Given the description of an element on the screen output the (x, y) to click on. 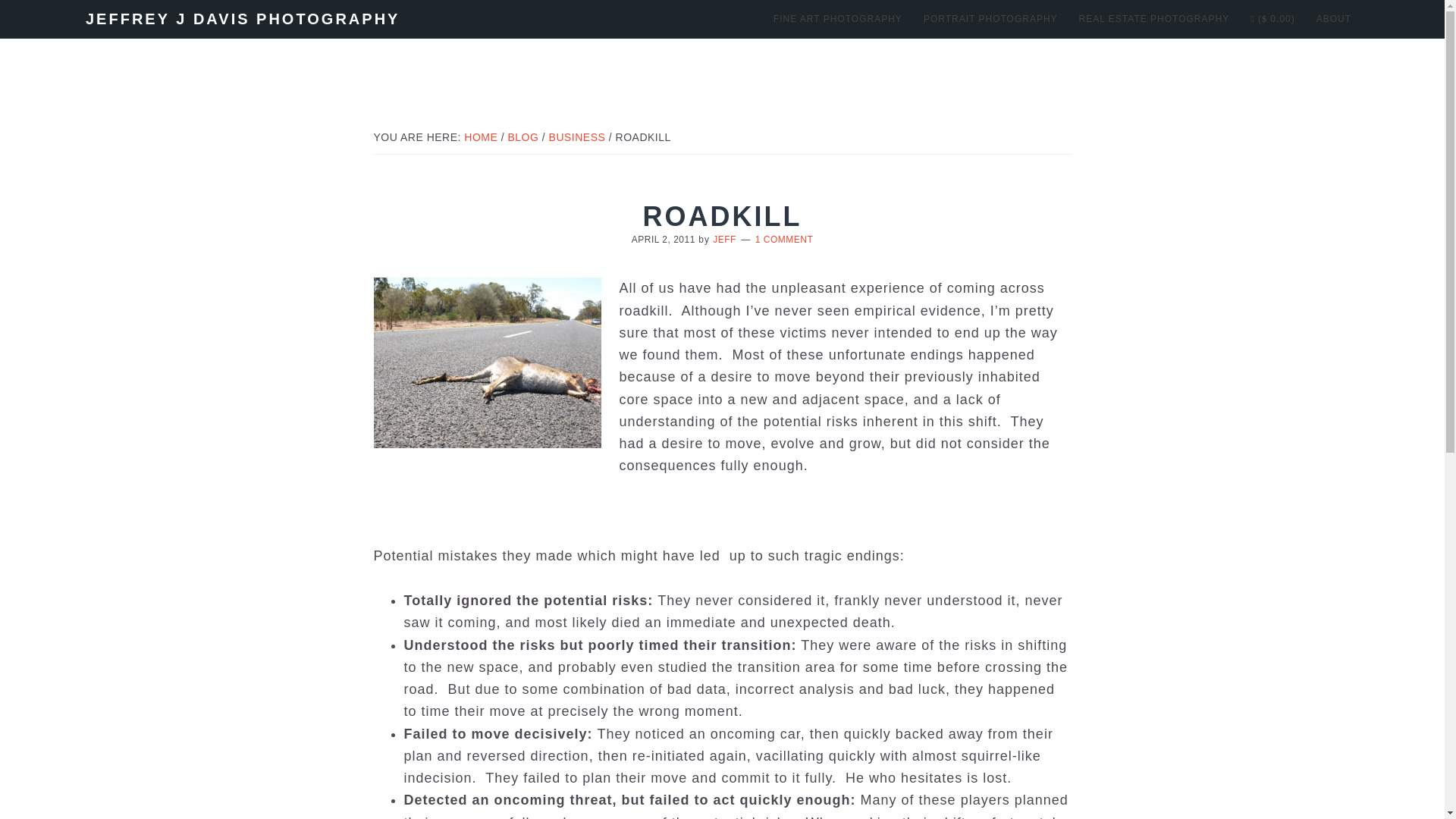
FINE ART PHOTOGRAPHY (837, 18)
roadkill (485, 362)
JEFFREY J DAVIS PHOTOGRAPHY (241, 18)
